Given the description of an element on the screen output the (x, y) to click on. 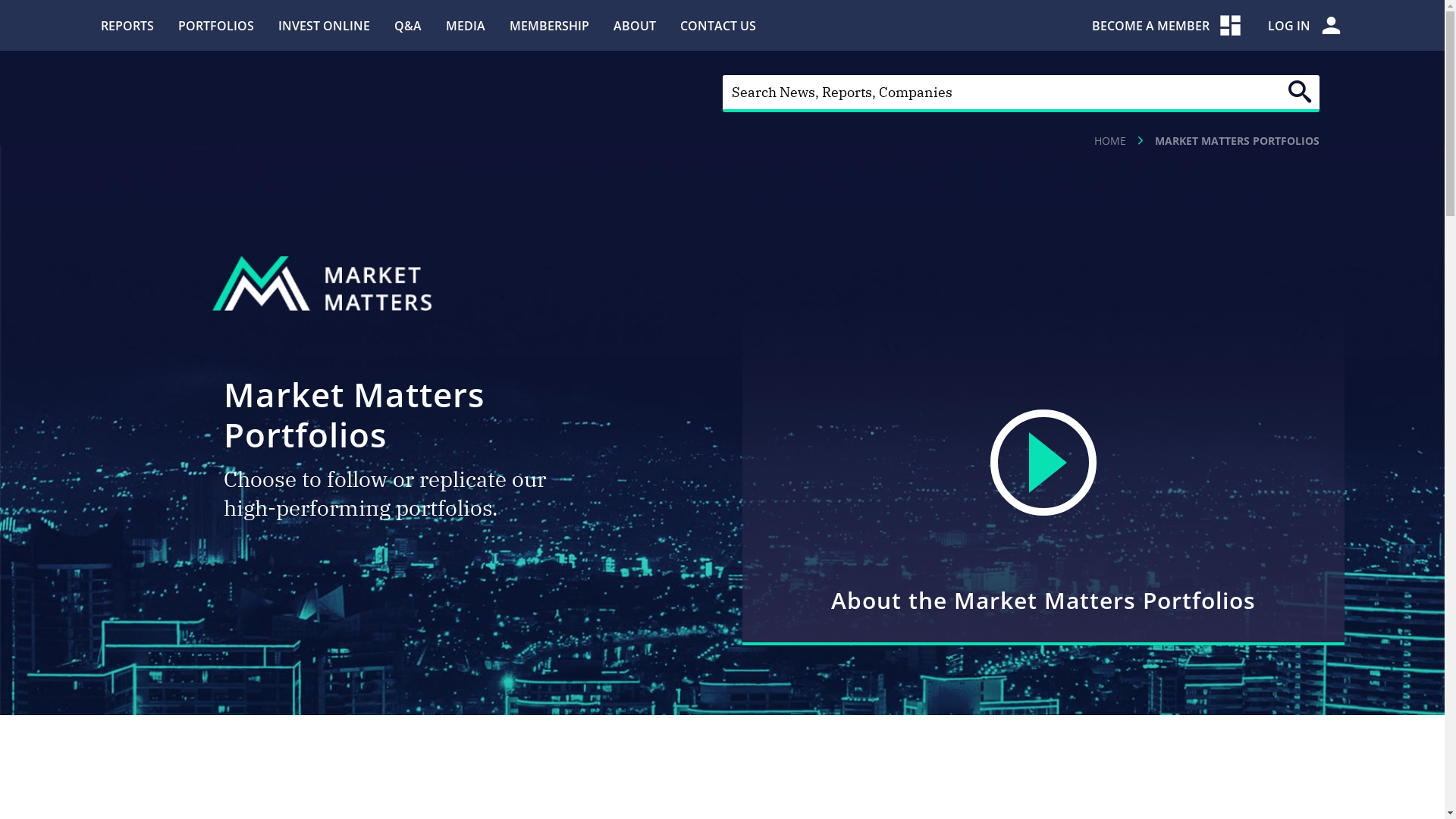
LOG IN Element type: text (1305, 25)
REPORTS Element type: text (126, 24)
MEMBERSHIP Element type: text (549, 24)
Search Submit Element type: hover (1299, 91)
BECOME A MEMBER Element type: text (1167, 25)
About the Market Matters Portfolios Element type: text (1042, 476)
Q&A Element type: text (407, 24)
PORTFOLIOS Element type: text (215, 24)
CONTACT US Element type: text (717, 24)
Search Field Element type: hover (1019, 93)
ABOUT Element type: text (633, 24)
HOME Element type: text (1110, 140)
INVEST ONLINE Element type: text (323, 24)
MEDIA Element type: text (465, 24)
